Given the description of an element on the screen output the (x, y) to click on. 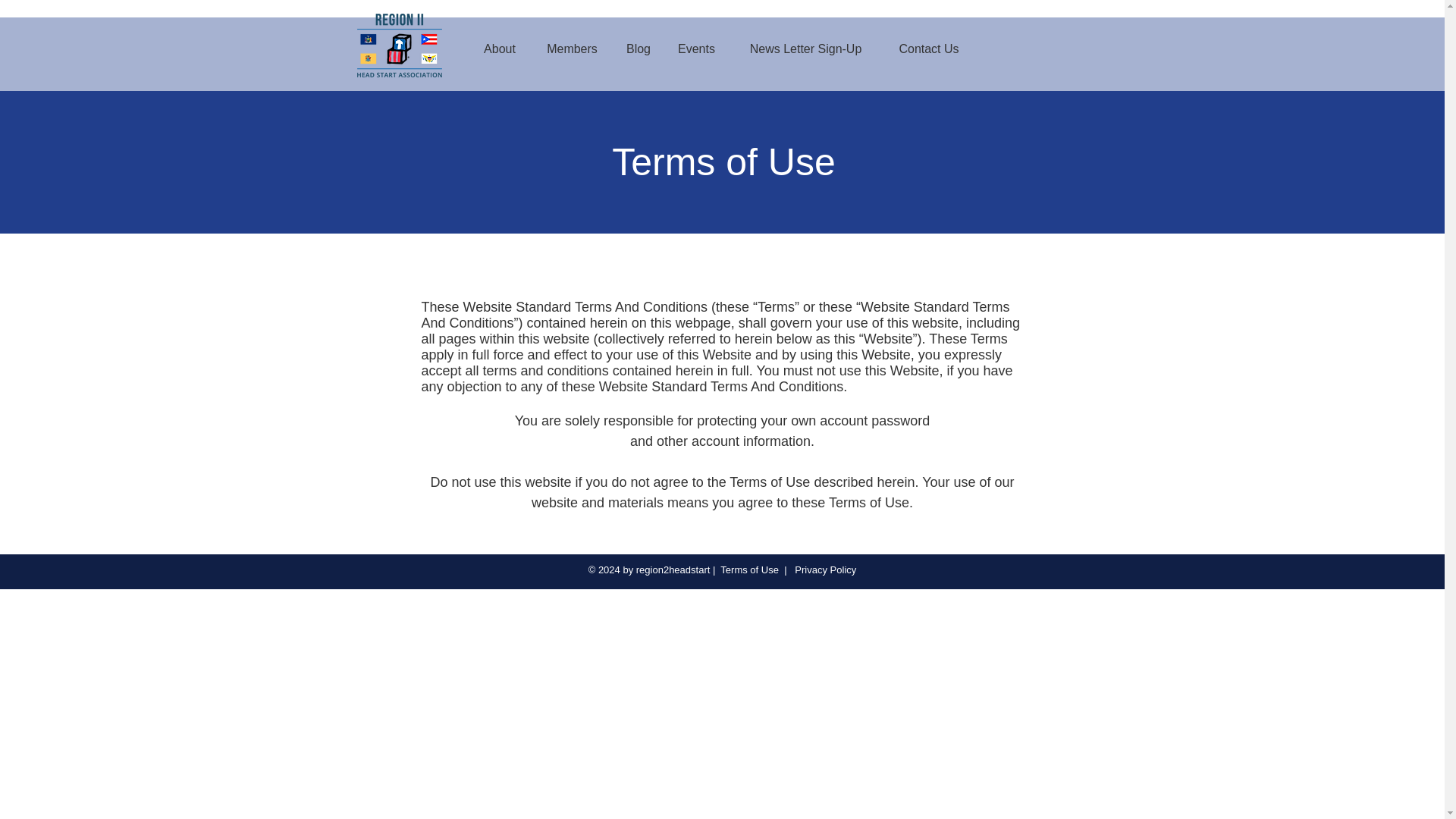
Terms of Use (749, 569)
News Letter Sign-Up (805, 48)
Contact Us (928, 48)
About (499, 48)
Blog (637, 48)
 Privacy Policy (824, 569)
logo.png (398, 44)
Events (696, 48)
Members (571, 48)
